Given the description of an element on the screen output the (x, y) to click on. 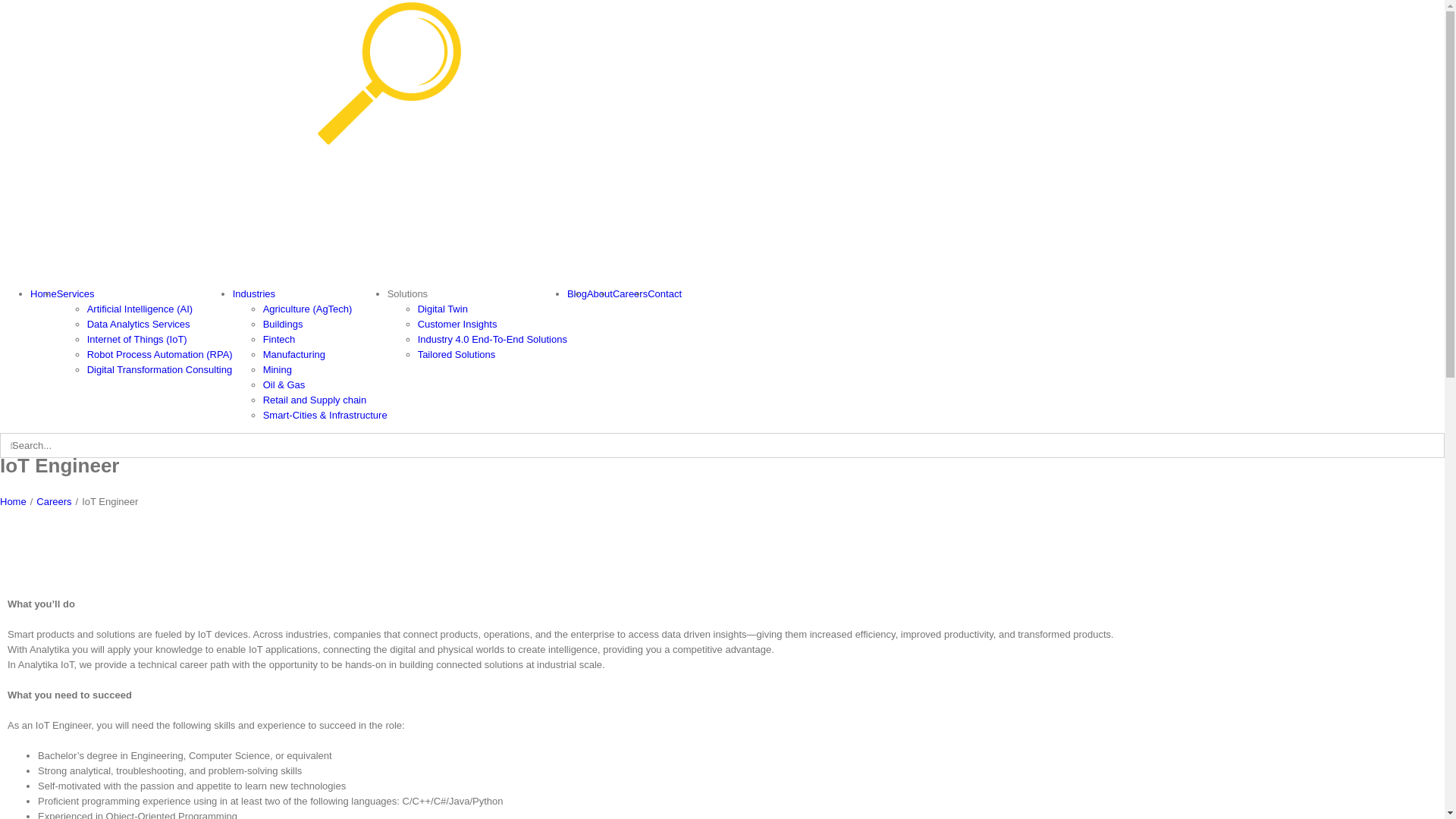
Buildings Element type: text (283, 323)
Industry 4.0 End-To-End Solutions Element type: text (492, 339)
Tailored Solutions Element type: text (456, 354)
Agriculture (AgTech) Element type: text (307, 308)
Retail and Supply chain Element type: text (315, 399)
Data Analytics Services Element type: text (138, 323)
Careers Element type: text (629, 293)
Home Element type: text (43, 293)
Contact Element type: text (664, 293)
Artificial Intelligence (AI) Element type: text (139, 308)
Digital Twin Element type: text (442, 308)
About Element type: text (599, 293)
Careers Element type: text (53, 501)
Mining Element type: text (277, 369)
Manufacturing Element type: text (294, 354)
Fintech Element type: text (279, 339)
Robot Process Automation (RPA) Element type: text (159, 354)
Blog Element type: text (576, 293)
Customer Insights Element type: text (457, 323)
Solutions Element type: text (407, 293)
Smart-Cities & Infrastructure Element type: text (325, 414)
Digital Transformation Consulting Element type: text (159, 369)
Oil & Gas Element type: text (284, 384)
Internet of Things (IoT) Element type: text (137, 339)
Services Element type: text (75, 293)
Industries Element type: text (253, 293)
Home Element type: text (13, 501)
